Given the description of an element on the screen output the (x, y) to click on. 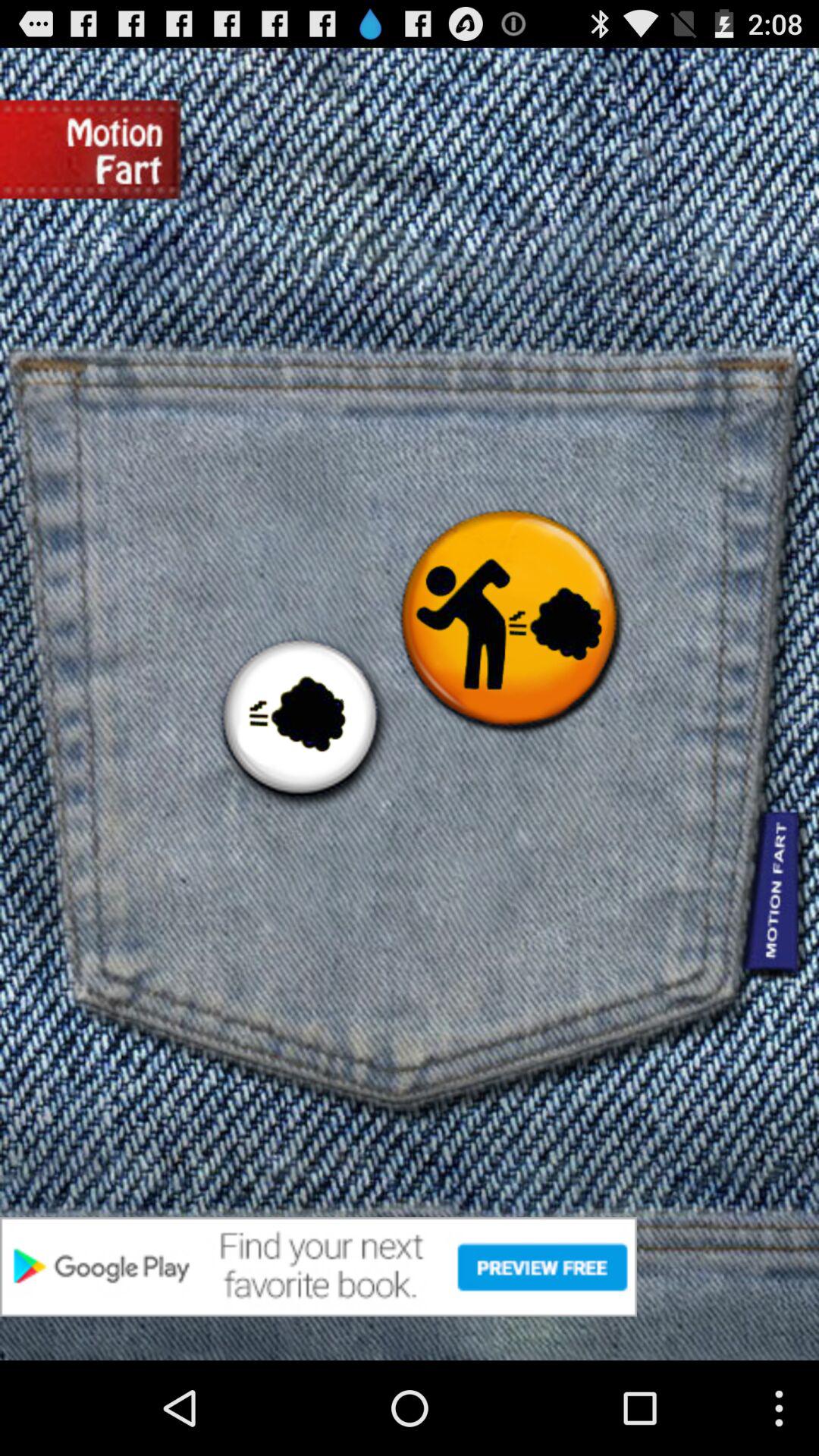
google play books advertisement (409, 1266)
